Given the description of an element on the screen output the (x, y) to click on. 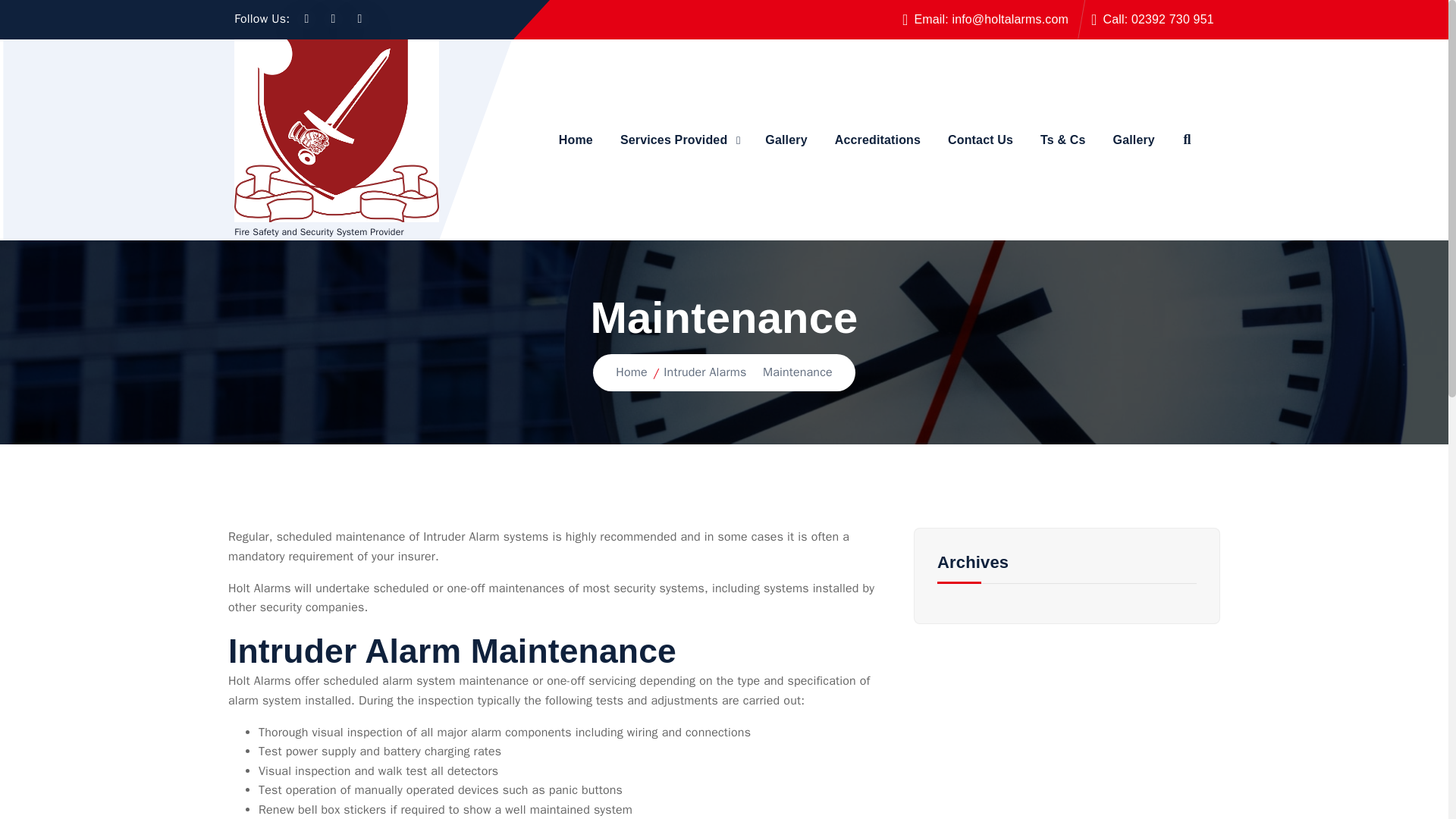
Accreditations (877, 140)
Services Provided (679, 140)
02392 730 951 (1172, 19)
Contact Us (980, 140)
Services Provided (679, 140)
Gallery (1134, 140)
Gallery (786, 140)
